Given the description of an element on the screen output the (x, y) to click on. 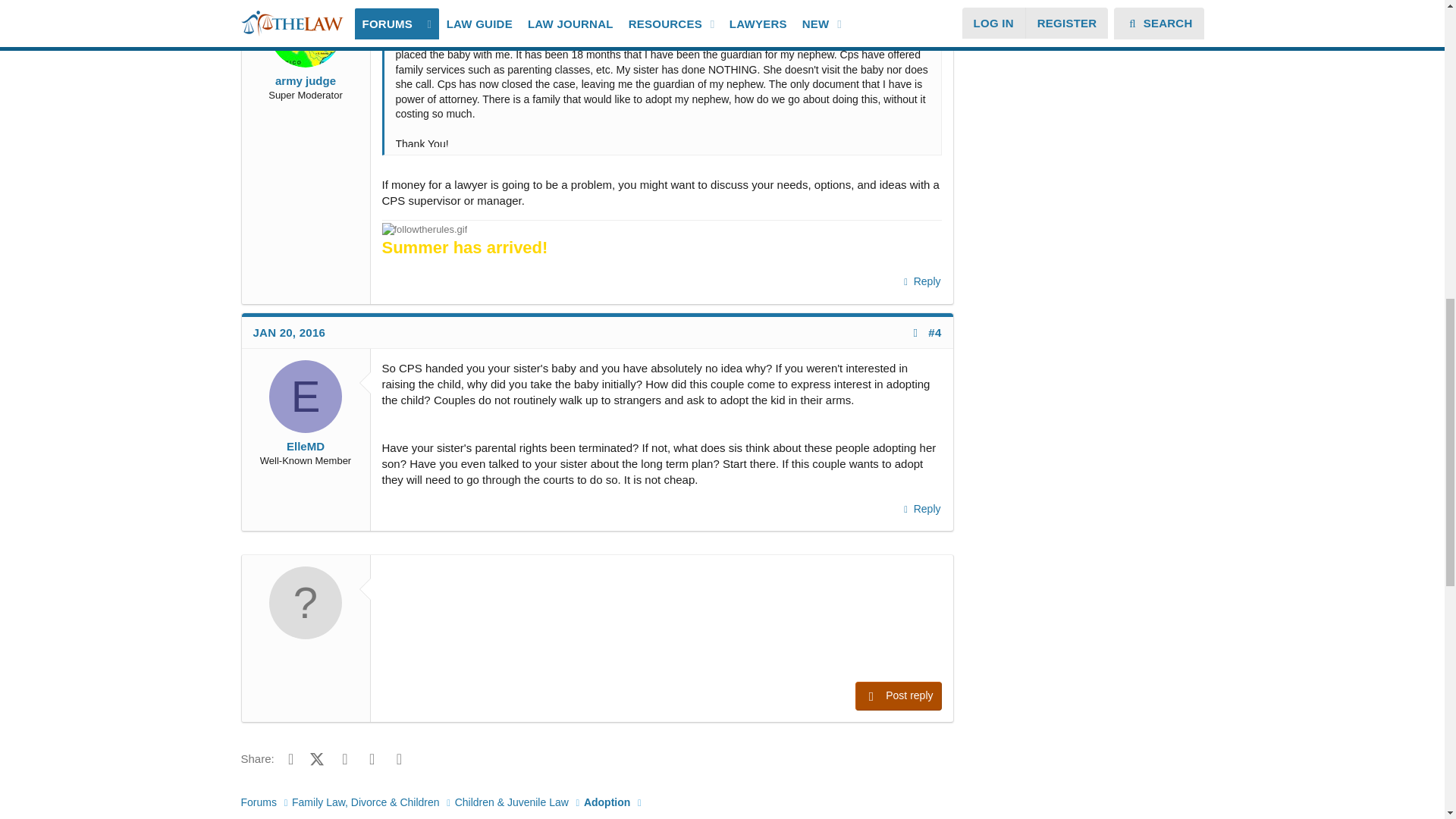
Reply, quoting this message (920, 509)
Jan 20, 2016 at 4:30 PM (289, 332)
Reply, quoting this message (920, 281)
followtherules.gif (424, 229)
